Given the description of an element on the screen output the (x, y) to click on. 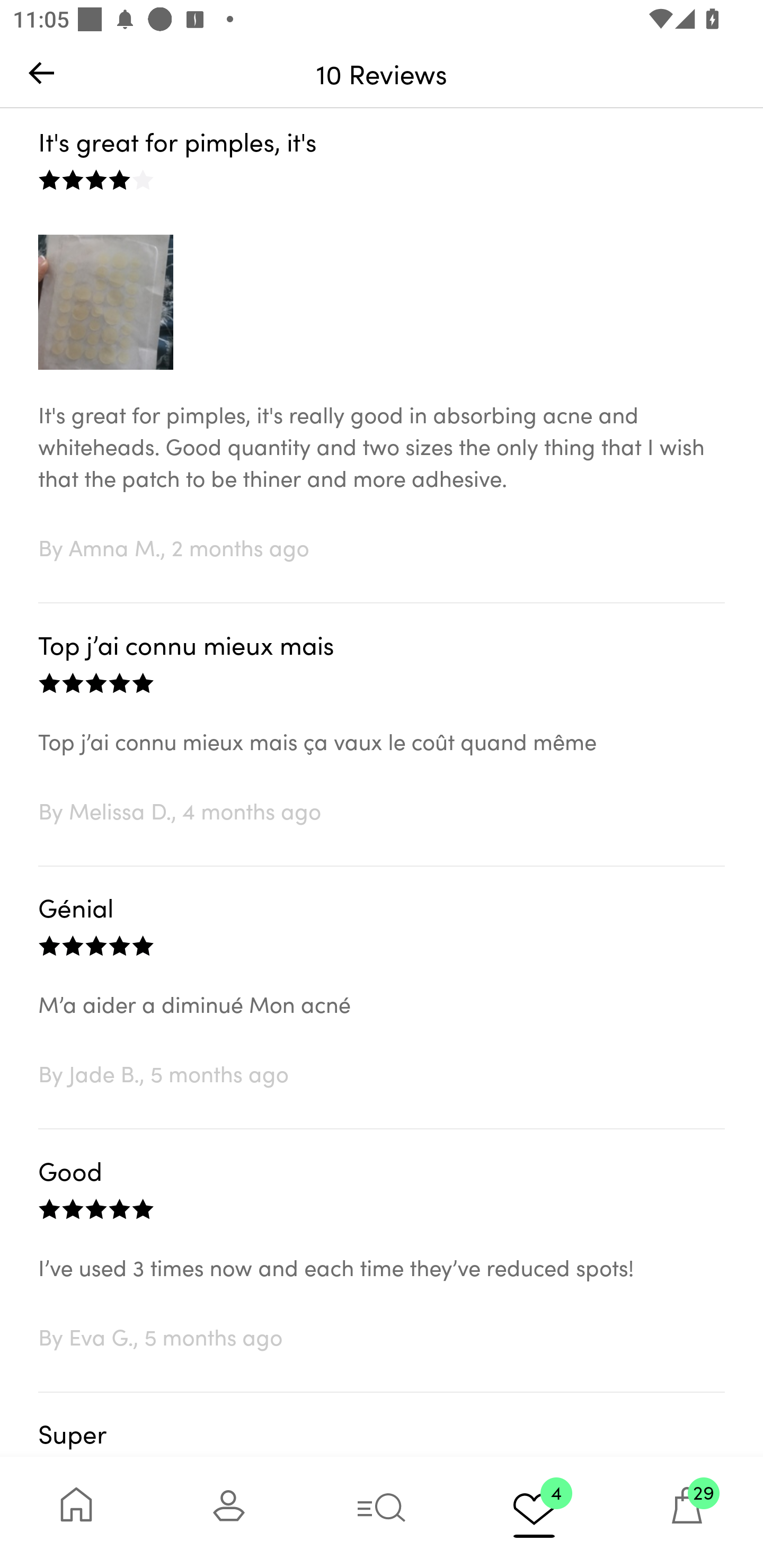
M’a aider a diminué Mon acné (381, 1022)
4 (533, 1512)
29 (686, 1512)
